Given the description of an element on the screen output the (x, y) to click on. 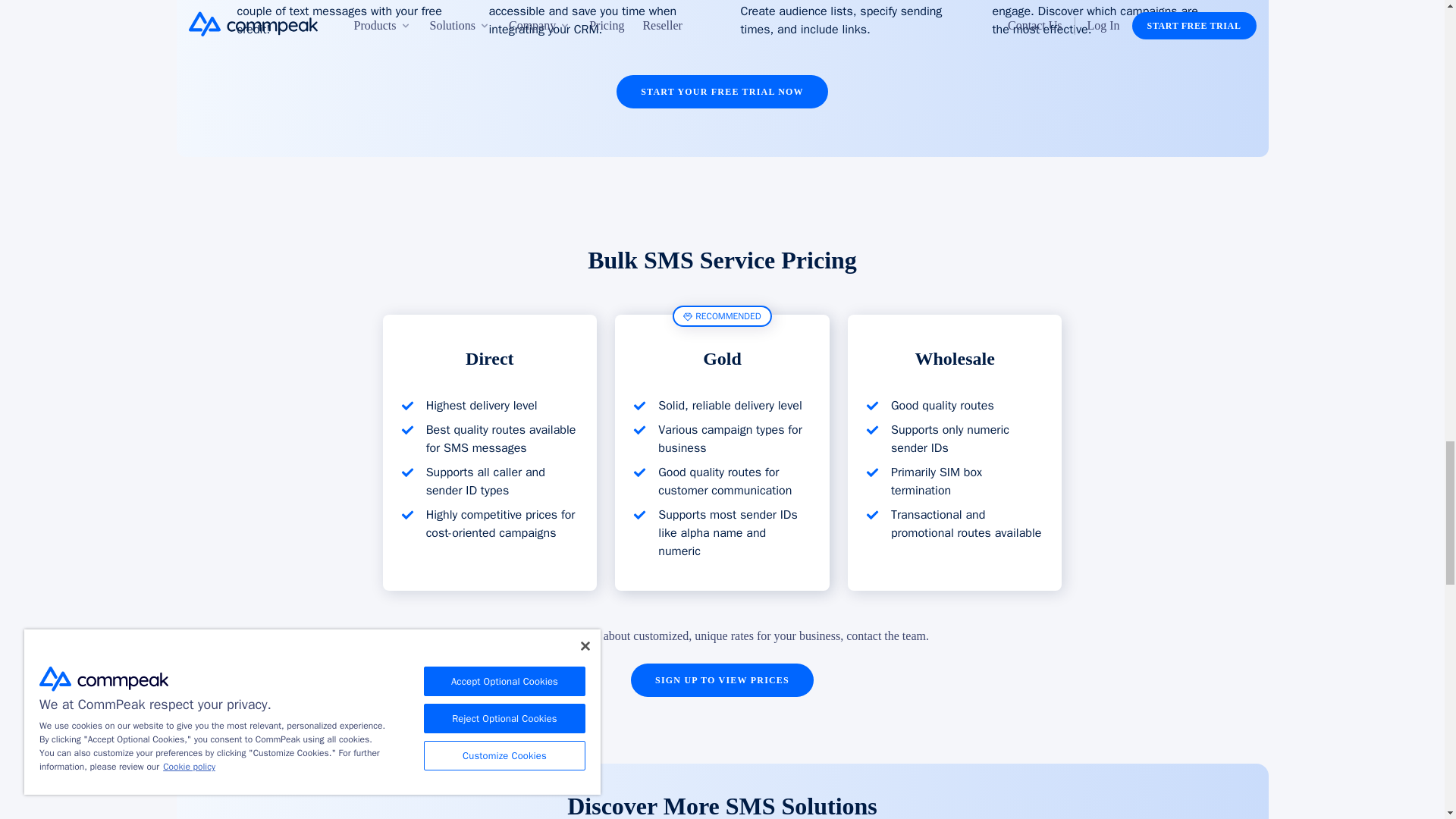
SIGN UP TO VIEW PRICES (721, 679)
START YOUR FREE TRIAL NOW (721, 91)
